Given the description of an element on the screen output the (x, y) to click on. 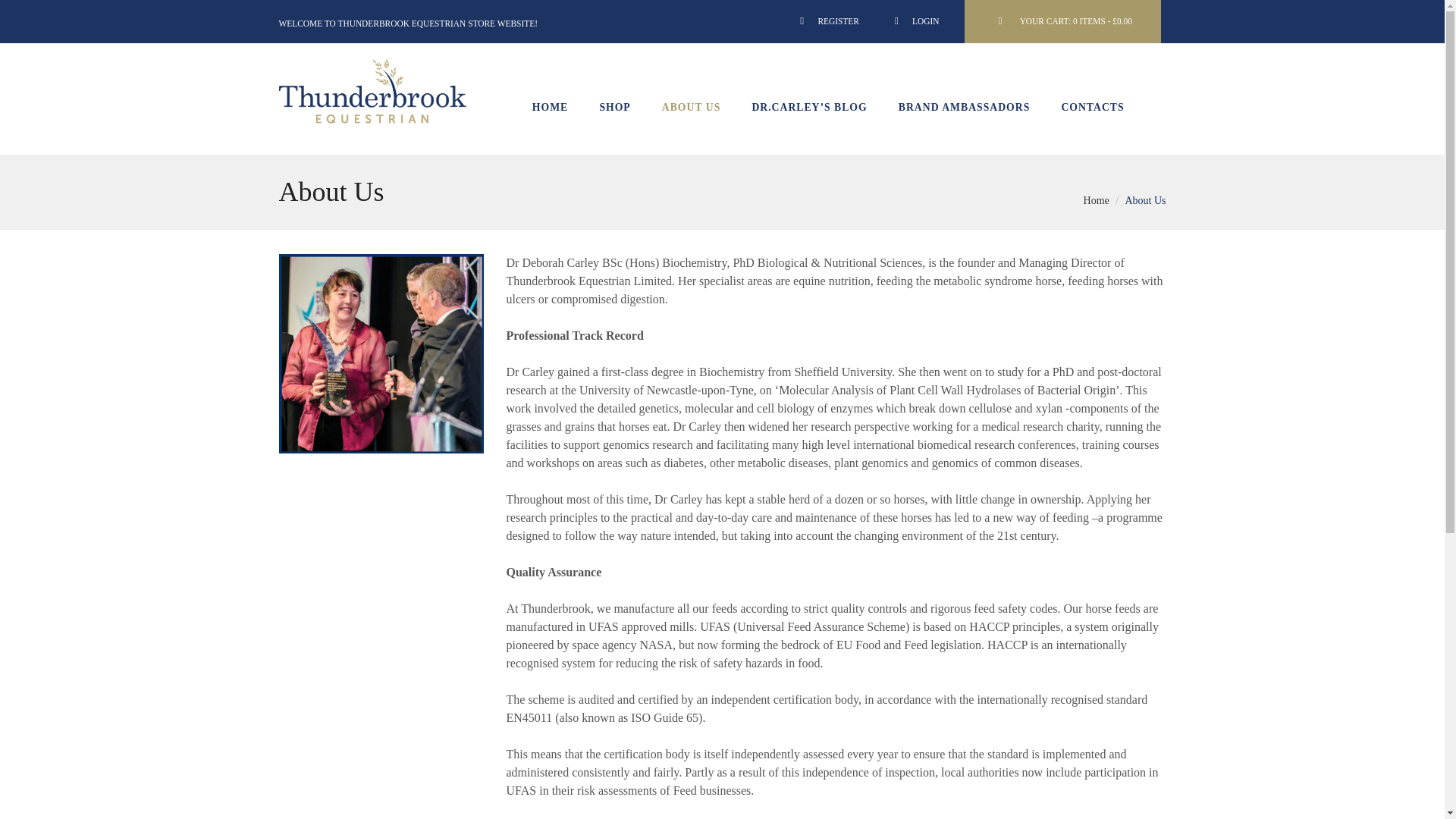
CONTACTS (1092, 107)
Home (1096, 200)
ABOUT US (691, 107)
REGISTER (826, 15)
SHOP (614, 107)
HOME (549, 107)
BRAND AMBASSADORS (963, 107)
LOGIN (914, 15)
